Given the description of an element on the screen output the (x, y) to click on. 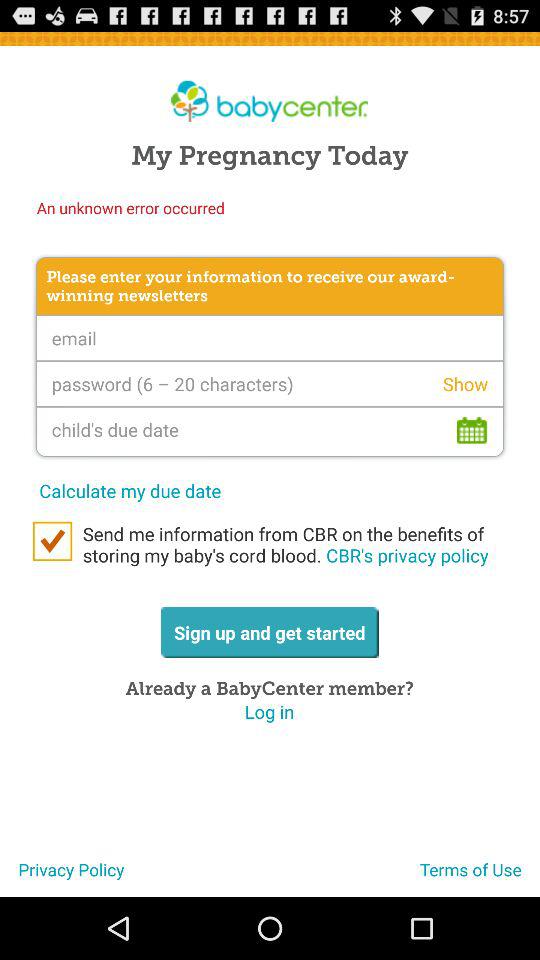
text field fory our email address (270, 338)
